Given the description of an element on the screen output the (x, y) to click on. 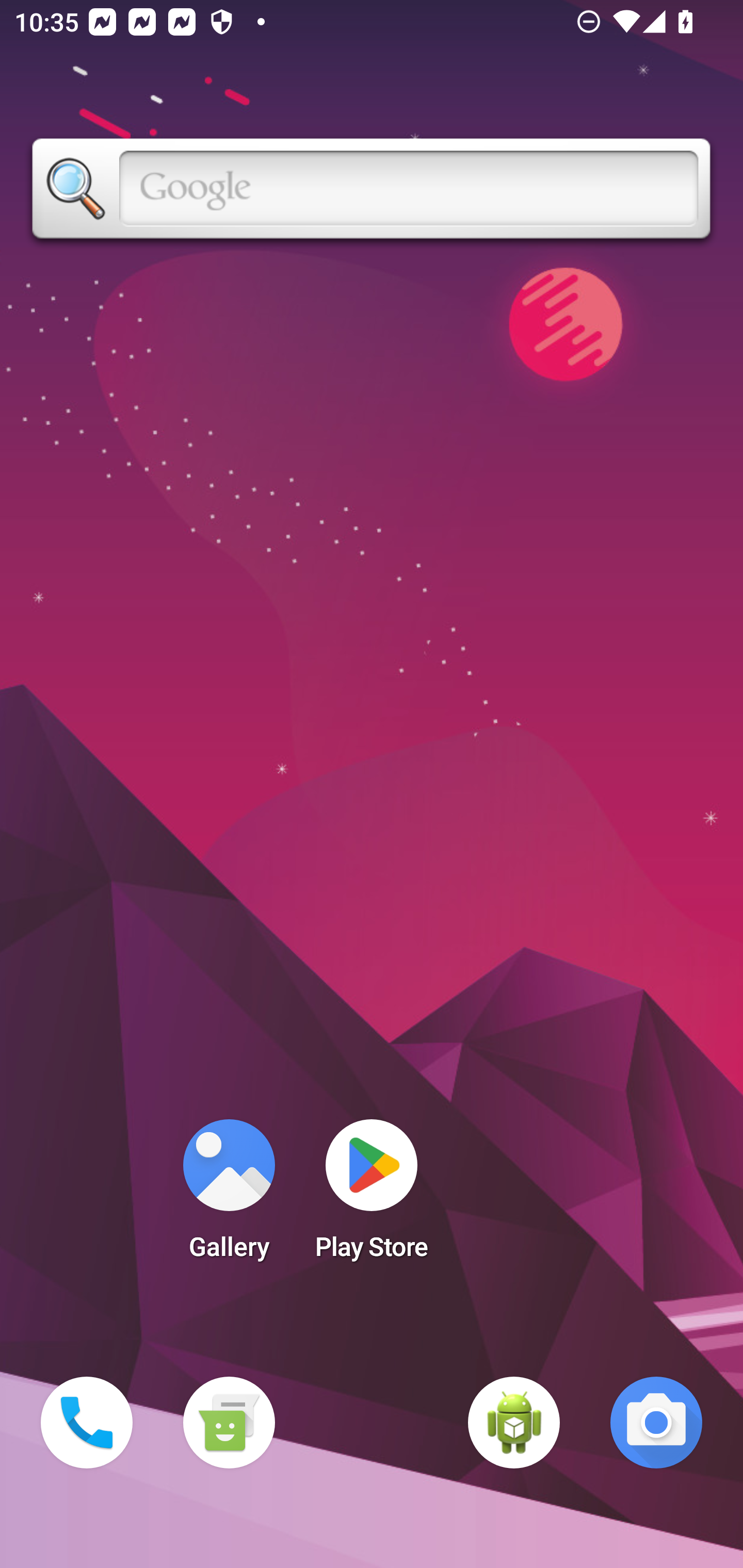
Gallery (228, 1195)
Play Store (371, 1195)
Phone (86, 1422)
Messaging (228, 1422)
WebView Browser Tester (513, 1422)
Camera (656, 1422)
